Given the description of an element on the screen output the (x, y) to click on. 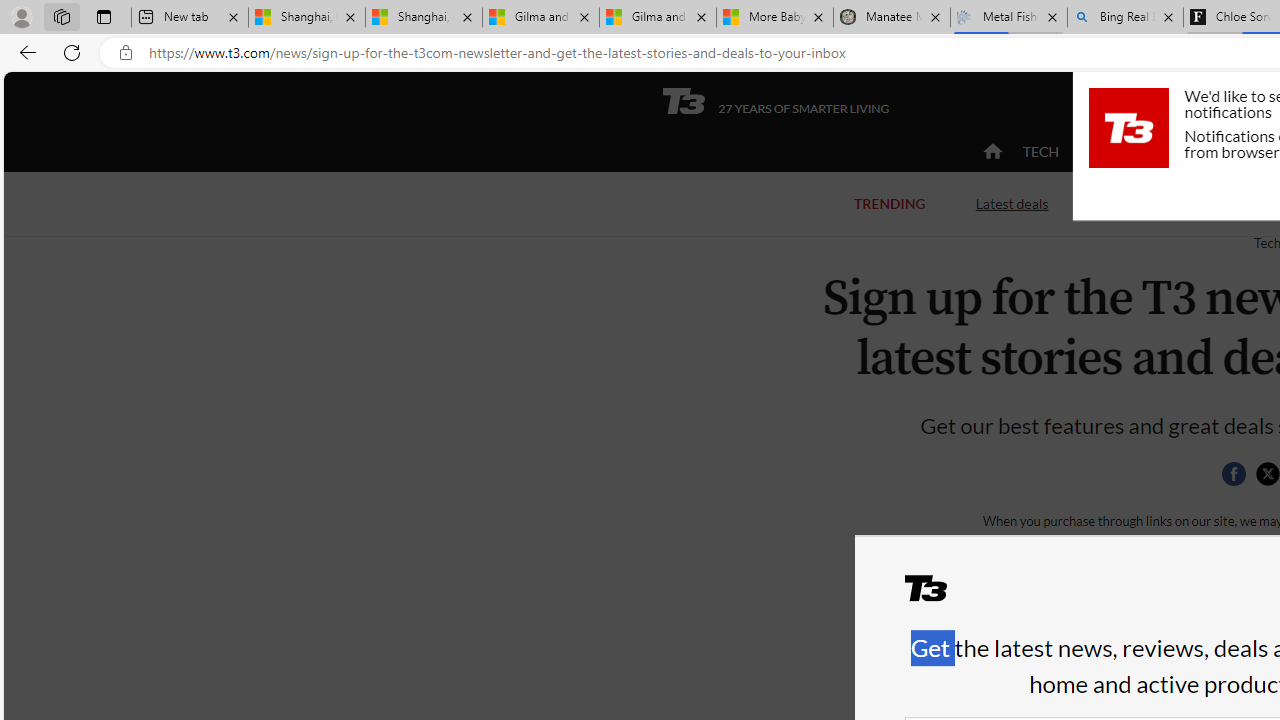
TECH (1040, 151)
t3.com Logo (1128, 127)
HOME LIVING (1233, 151)
Bing Real Estate - Home sales and rental listings (1124, 17)
